Given the description of an element on the screen output the (x, y) to click on. 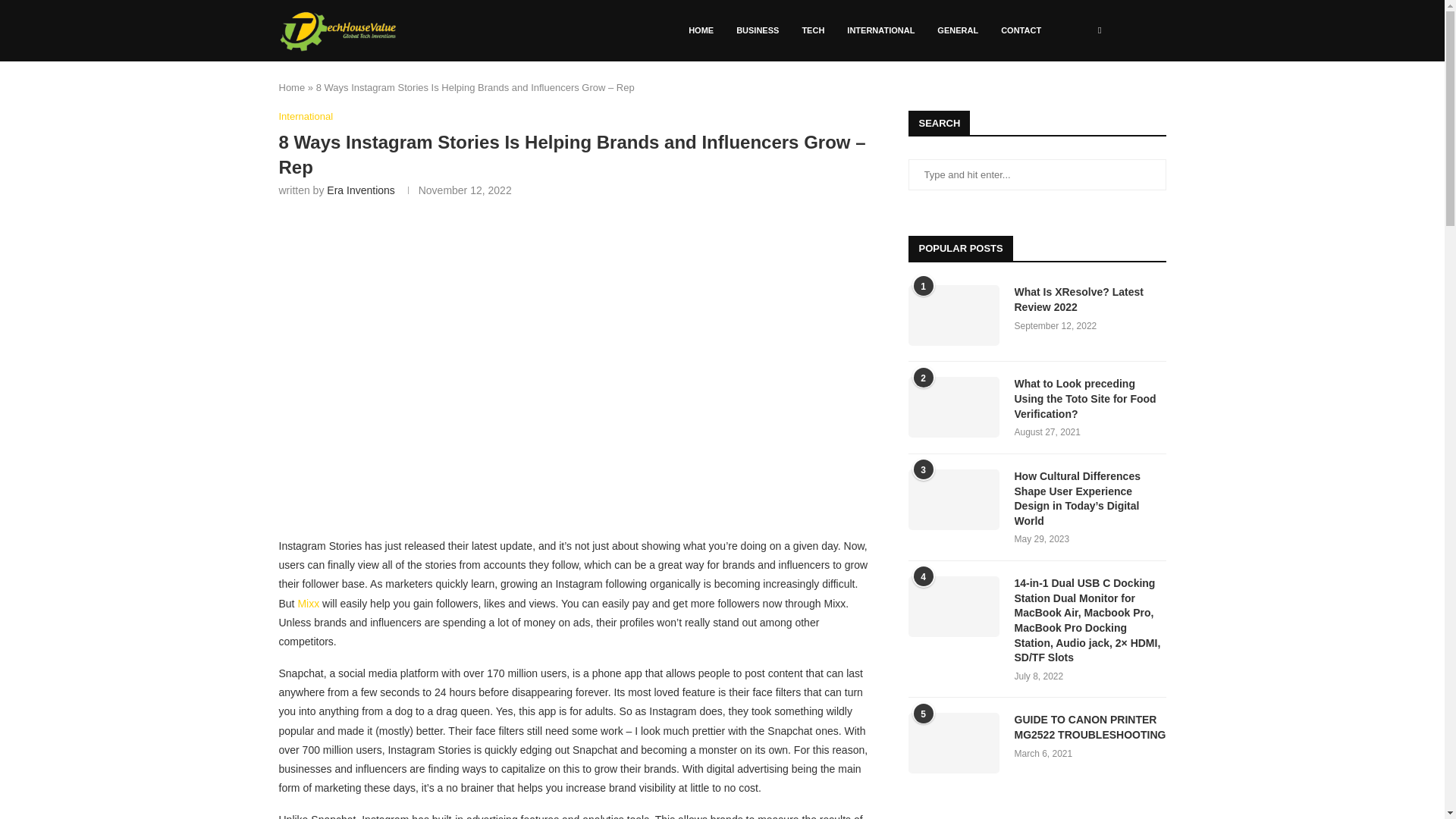
CONTACT (1021, 30)
Home (292, 87)
BUSINESS (757, 30)
Era Inventions (360, 190)
INTERNATIONAL (880, 30)
GENERAL (958, 30)
International (306, 116)
Mixx (307, 603)
What Is XResolve? Latest Review 2022 (1090, 299)
What Is XResolve? Latest Review 2022 (953, 315)
